Given the description of an element on the screen output the (x, y) to click on. 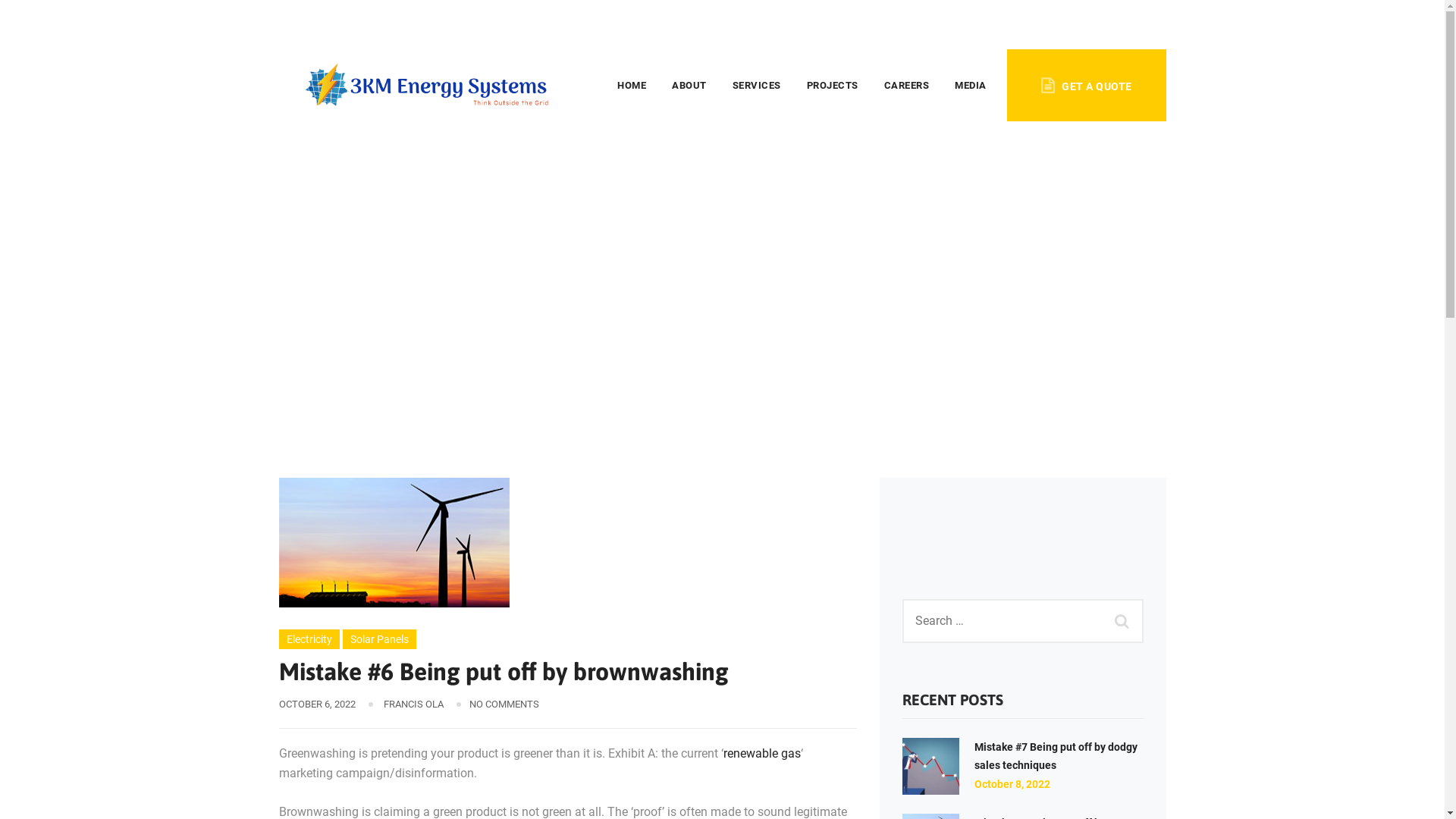
GET A QUOTE Element type: text (1085, 85)
Electricity Element type: text (467, 274)
renewable gas Element type: text (761, 753)
Blog Classic Element type: text (391, 274)
Electricity Element type: text (309, 639)
CAREERS Element type: text (906, 85)
Solar Panels Element type: text (379, 639)
MEDIA Element type: text (970, 85)
FRANCIS OLA Element type: text (413, 703)
SERVICES Element type: text (756, 85)
PROJECTS Element type: text (832, 85)
Mistake #7 Being put off by dodgy sales techniques Element type: text (1054, 755)
HOME Element type: text (631, 85)
3KM Energy Element type: hover (430, 84)
ABOUT Element type: text (688, 85)
OCTOBER 6, 2022 Element type: text (317, 703)
3KM Energy Element type: text (311, 274)
October 8, 2022 Element type: text (1011, 784)
